Given the description of an element on the screen output the (x, y) to click on. 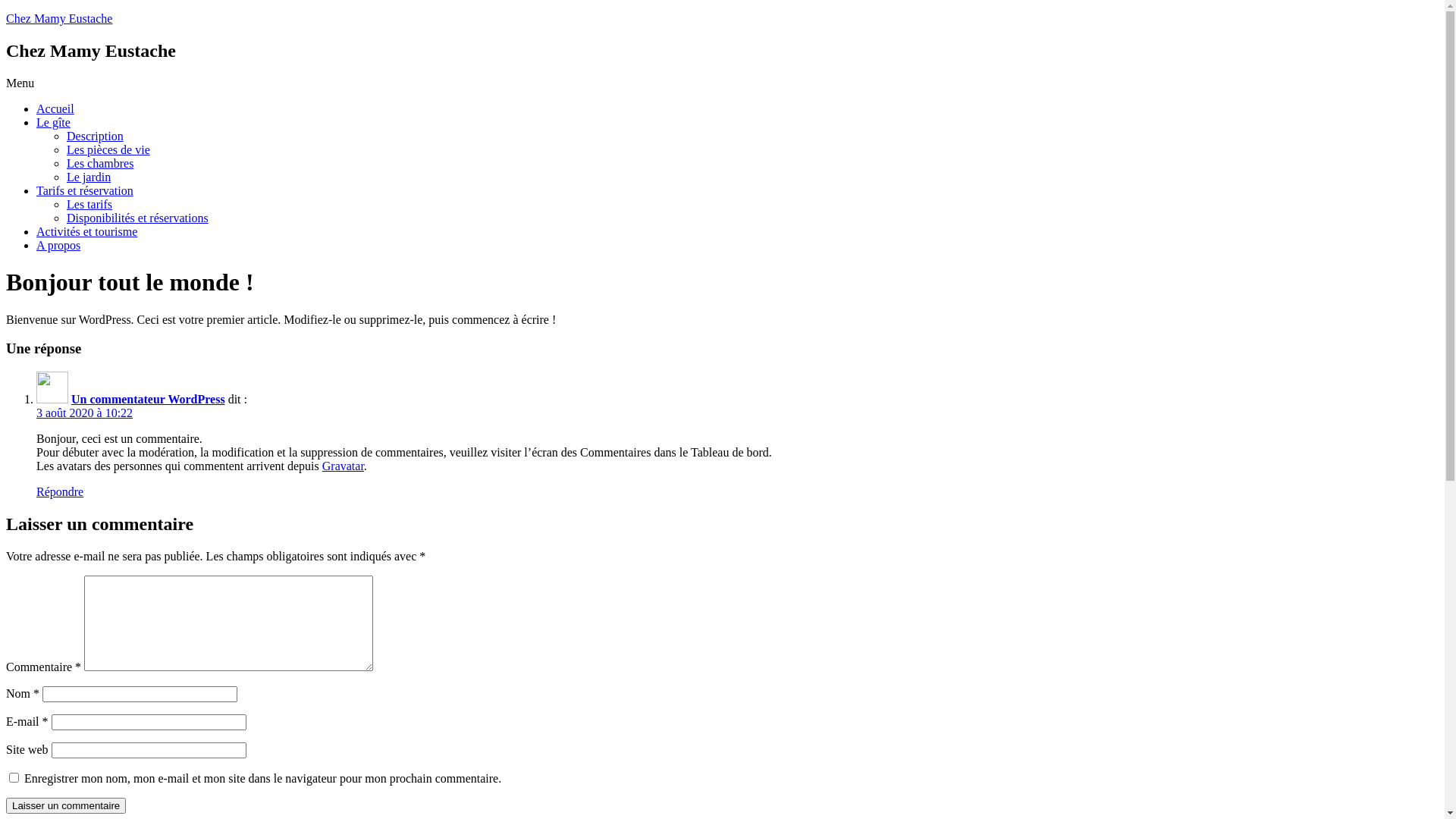
Les tarifs Element type: text (89, 203)
Accueil Element type: text (55, 108)
A propos Element type: text (58, 244)
Le jardin Element type: text (88, 176)
Les chambres Element type: text (99, 162)
Chez Mamy Eustache Element type: text (59, 18)
Laisser un commentaire Element type: text (65, 805)
Description Element type: text (94, 135)
Gravatar Element type: text (343, 465)
Un commentateur WordPress Element type: text (148, 398)
